Given the description of an element on the screen output the (x, y) to click on. 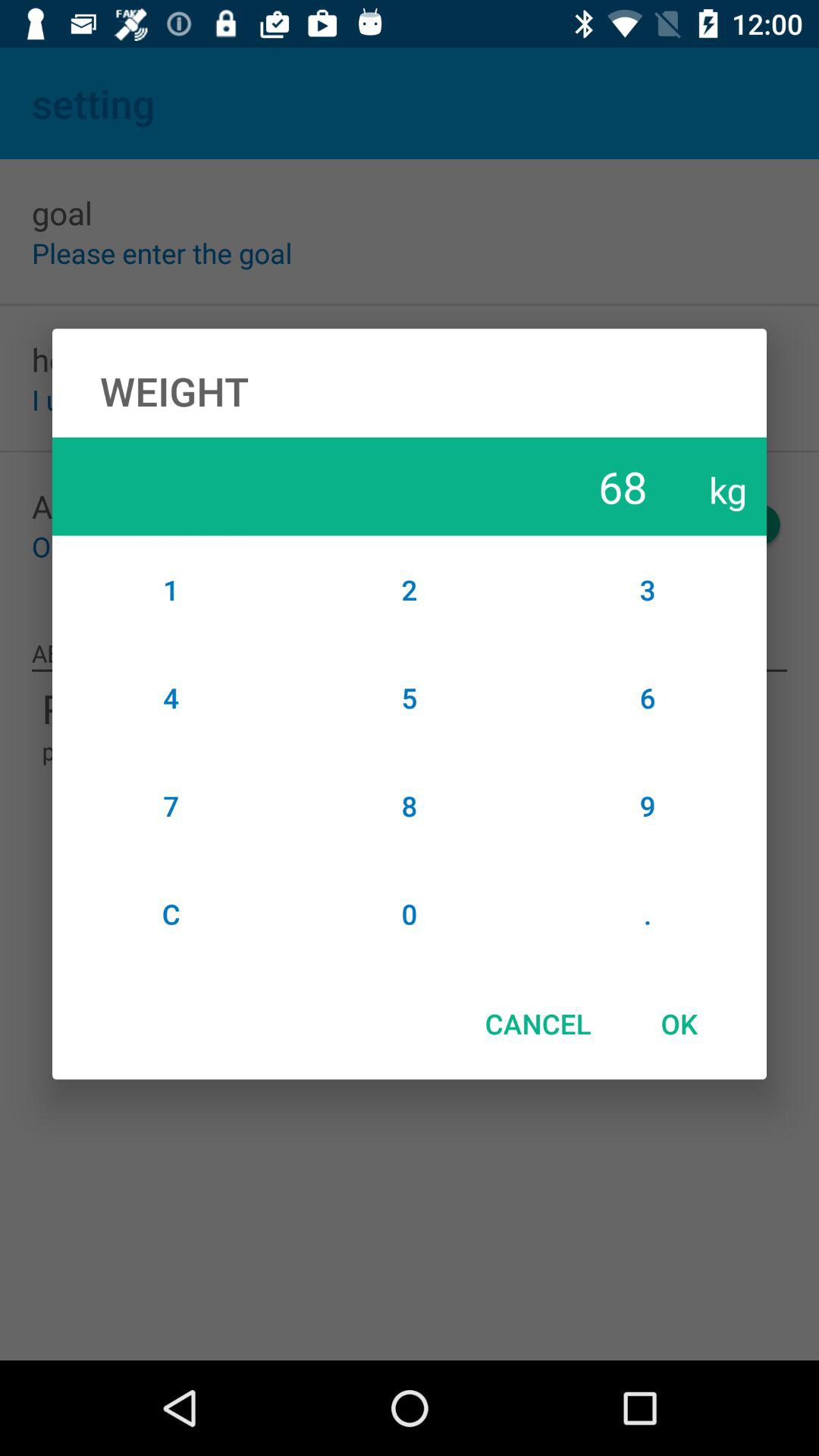
turn off the item above 5 item (409, 589)
